Given the description of an element on the screen output the (x, y) to click on. 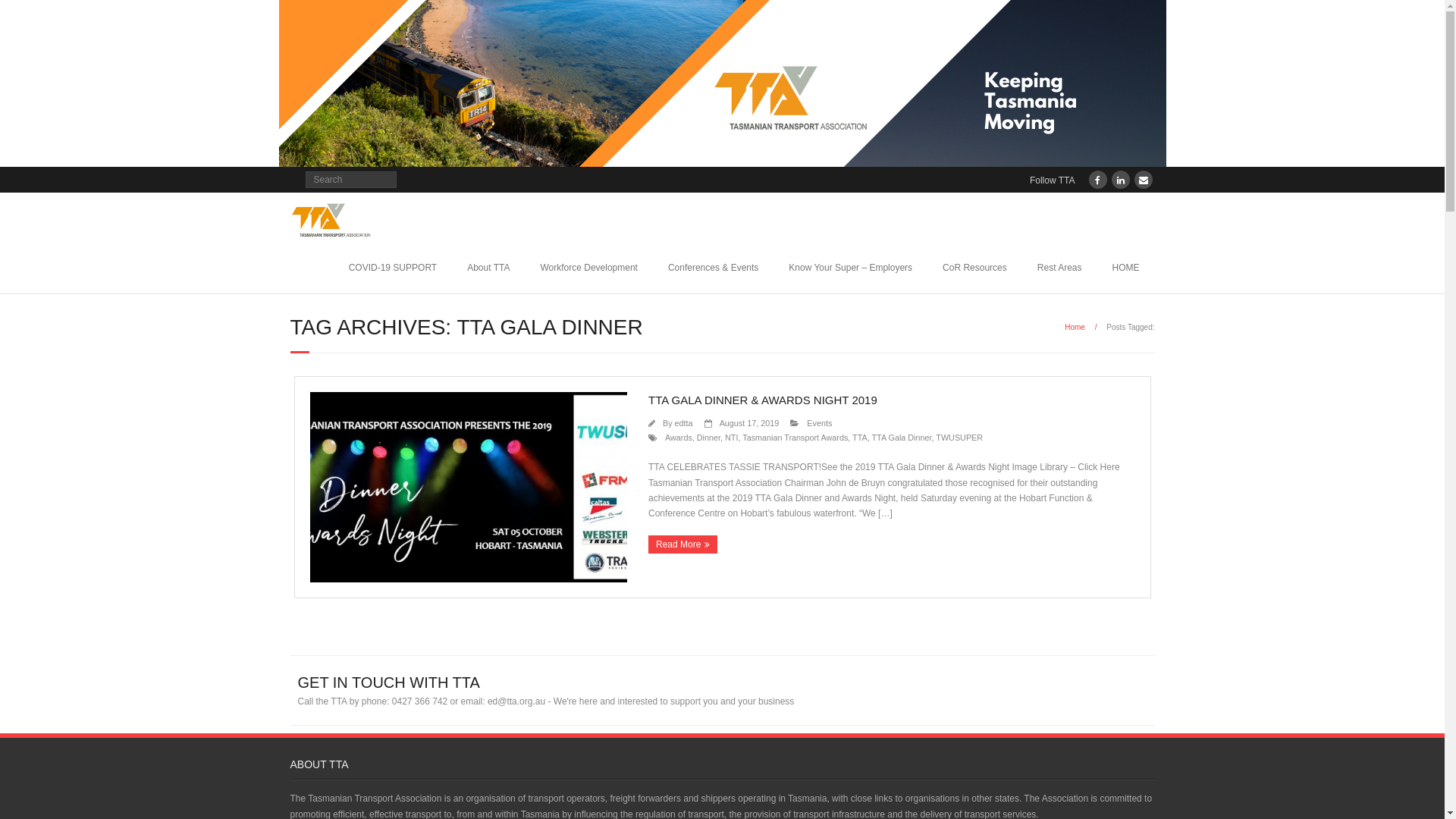
COVID-19 SUPPORT Element type: text (392, 267)
Search Element type: text (25, 13)
TTA Element type: text (859, 437)
Workforce Development Element type: text (588, 267)
CoR Resources Element type: text (974, 267)
Dinner Element type: text (708, 437)
Conferences & Events Element type: text (712, 267)
TWUSUPER Element type: text (958, 437)
HOME Element type: text (1125, 267)
About TTA Element type: text (487, 267)
Events Element type: text (818, 422)
Home Element type: text (1074, 327)
August 17, 2019 Element type: text (749, 422)
Rest Areas Element type: text (1059, 267)
NTI Element type: text (730, 437)
Read More Element type: text (682, 544)
TTA GALA DINNER & AWARDS NIGHT 2019 Element type: text (762, 399)
Awards Element type: text (678, 437)
TTA Gala Dinner Element type: text (901, 437)
edtta Element type: text (683, 422)
Tasmanian Transport Awards Element type: text (794, 437)
